Given the description of an element on the screen output the (x, y) to click on. 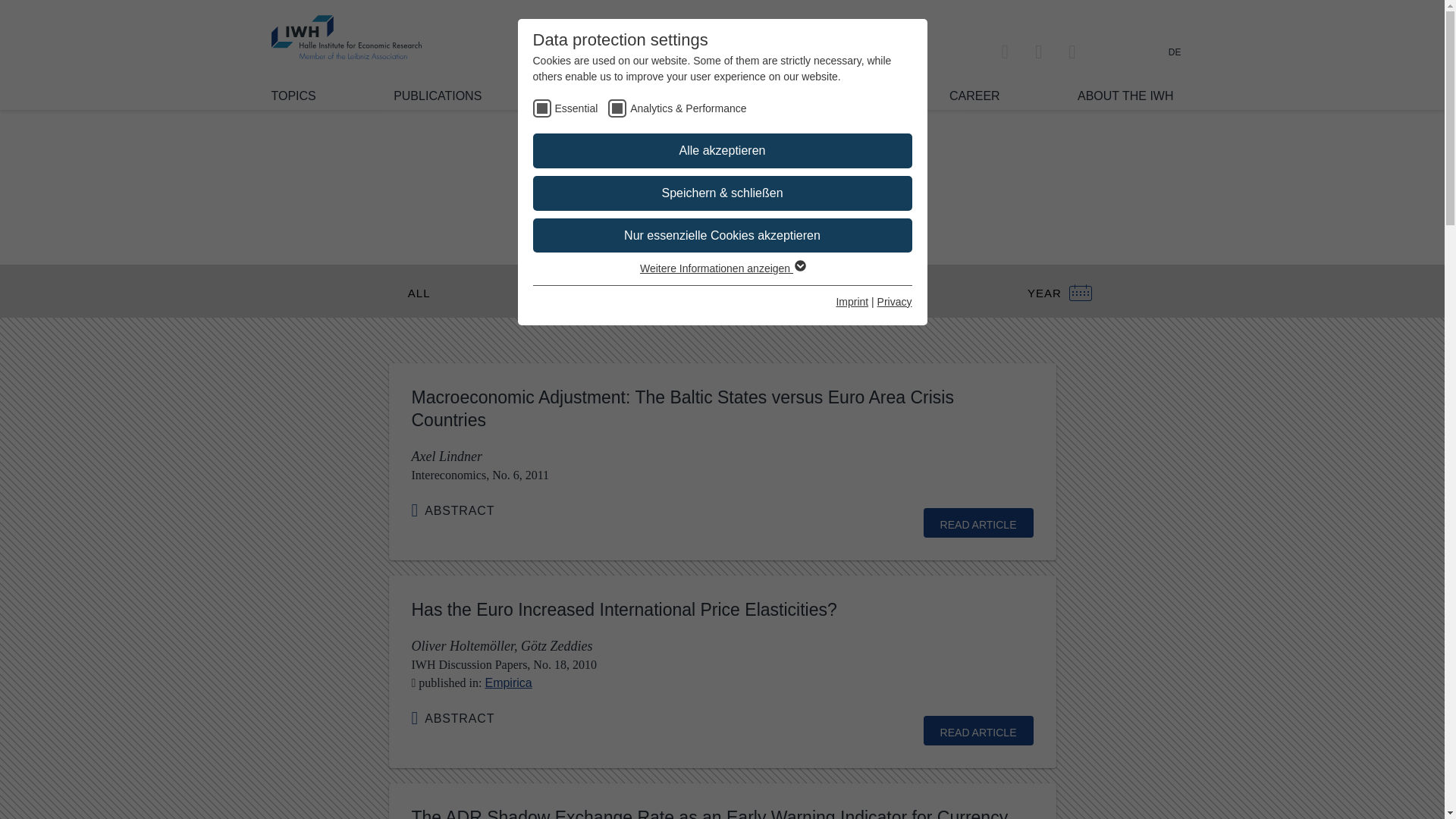
TOPICS (292, 96)
DE (1174, 51)
RESEARCH (593, 96)
PUBLICATIONS (437, 96)
F32 (706, 204)
